Given the description of an element on the screen output the (x, y) to click on. 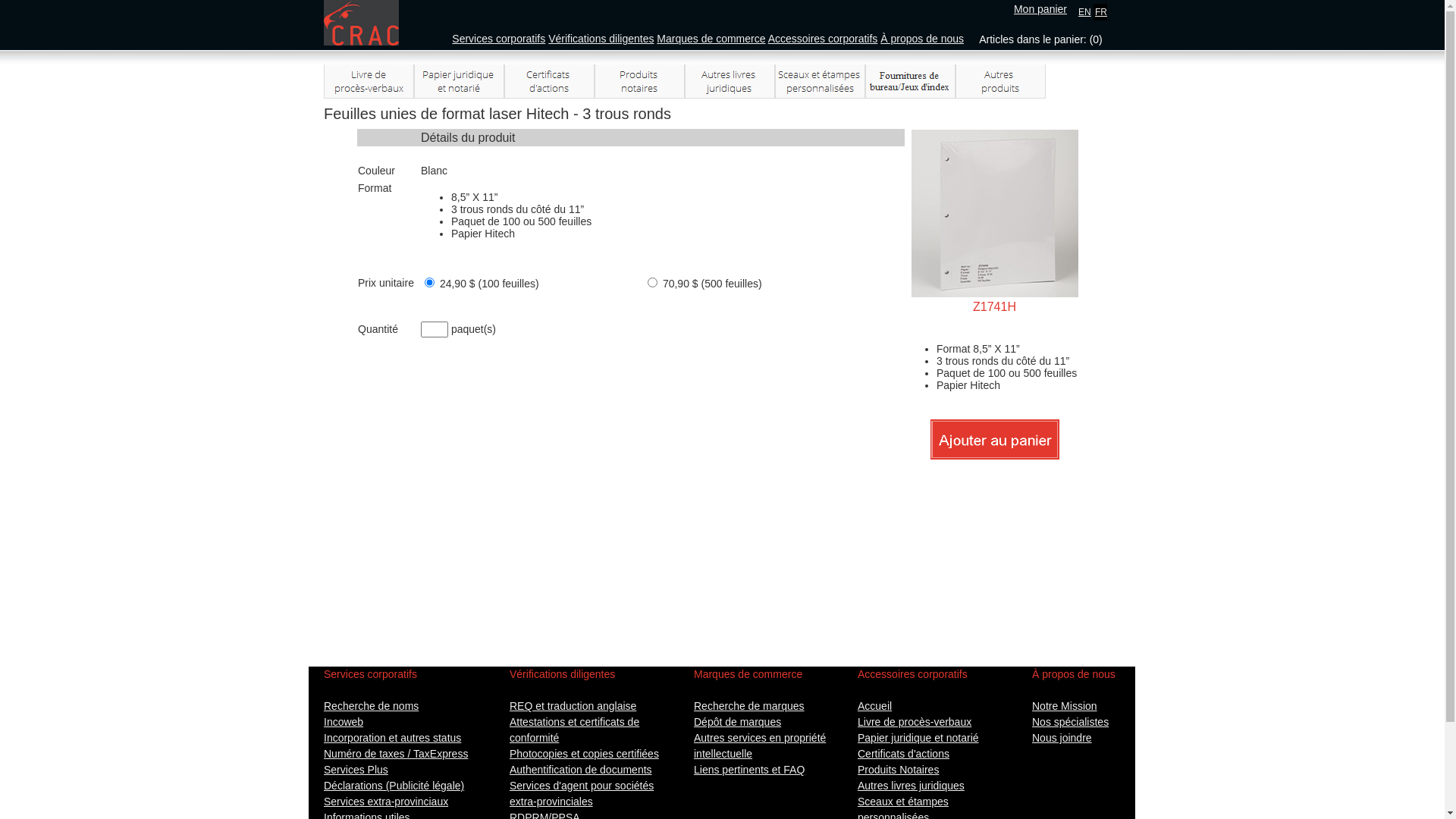
Z1741H Element type: hover (994, 213)
Services corporatifs Element type: text (498, 38)
CRAC_logo-60 Element type: hover (360, 22)
Incorporation et autres status Element type: text (392, 737)
Marques de commerce Element type: text (710, 38)
Produits Notaires Element type: text (897, 769)
Mon panier Element type: text (1039, 9)
Liens pertinents et FAQ Element type: text (748, 769)
Autres livres juridiques Element type: text (910, 785)
Autres livres 
juridiques Element type: hover (729, 81)
Produits 
notaires Element type: hover (639, 81)
Accessoires corporatifs Element type: text (823, 38)
Authentification de documents Element type: text (580, 769)
Services extra-provinciaux Element type: text (385, 801)
Services Plus Element type: text (355, 769)
REQ et traduction anglaise Element type: text (572, 705)
FR Element type: text (1101, 11)
Recherche de marques Element type: text (748, 705)
Nous joindre Element type: text (1062, 737)
Certificats d'actions Element type: text (903, 753)
Autres 
produits Element type: hover (1000, 81)
Accueil Element type: text (874, 705)
Fournitures de 
bureau/Jeux d'index  Element type: hover (910, 81)
Recherche de noms Element type: text (370, 705)
Certificats 
d'actions Element type: hover (549, 81)
Notre Mission Element type: text (1064, 705)
EN Element type: text (1084, 11)
Incoweb Element type: text (343, 721)
